Given the description of an element on the screen output the (x, y) to click on. 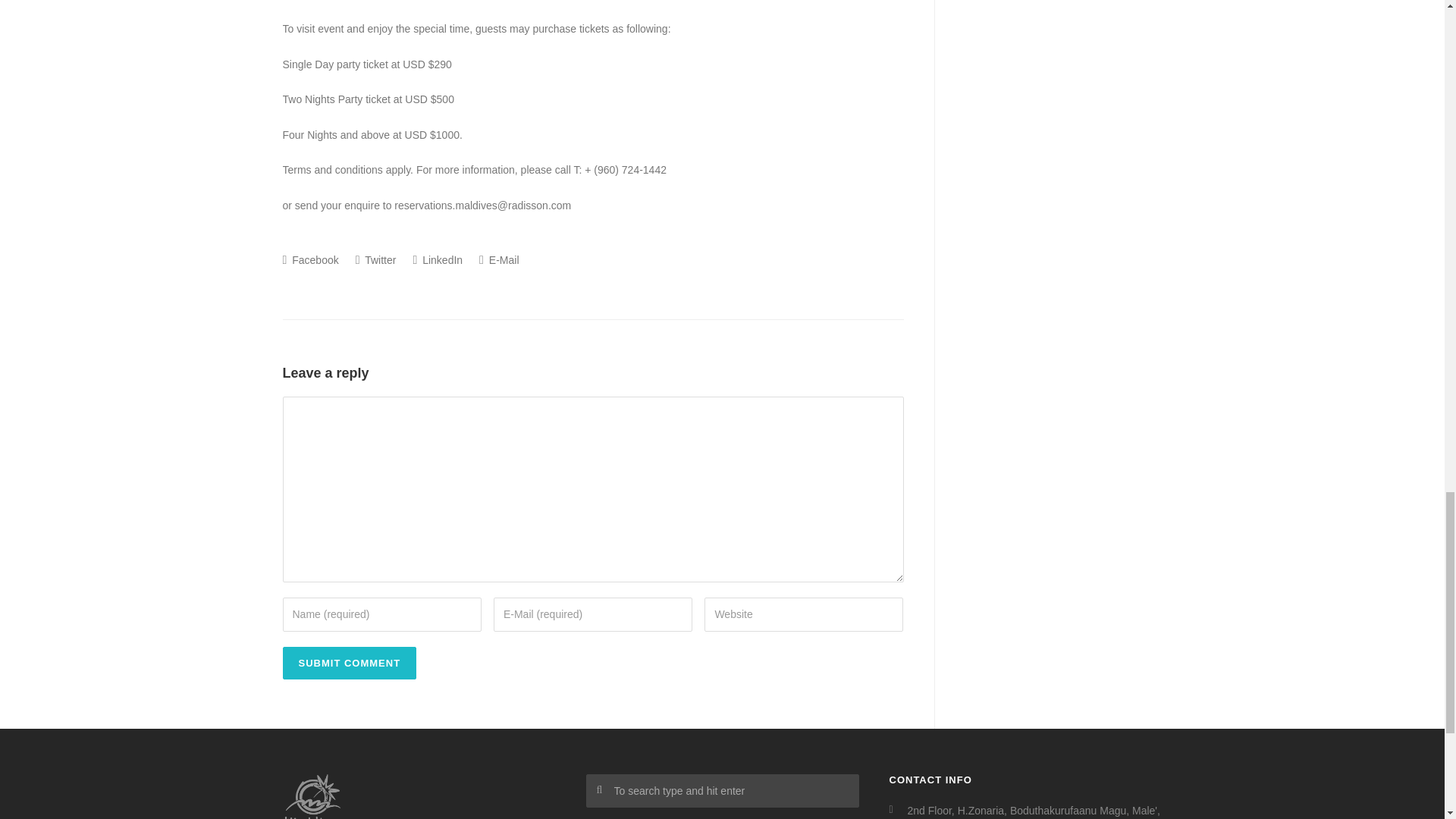
Twitter (375, 259)
Submit Comment (349, 663)
Website (803, 613)
To search type and hit enter (722, 790)
Facebook (309, 259)
